Given the description of an element on the screen output the (x, y) to click on. 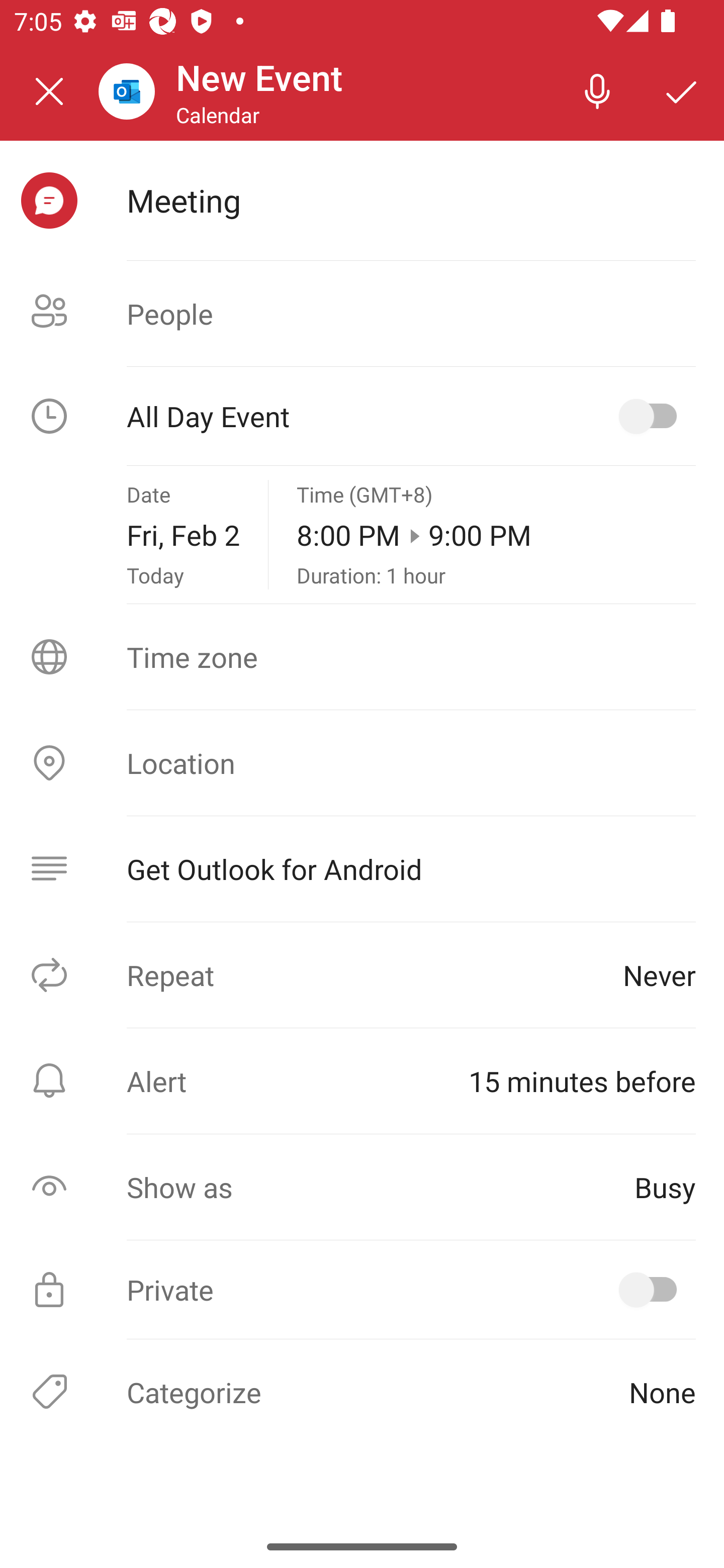
Close (49, 91)
Save button (681, 90)
Meeting (410, 200)
meeting selected, event icon picker (48, 200)
People (362, 313)
All Day Event (362, 415)
Date Fri, Feb 2 Today (182, 534)
Time (GMT+8) 8:00 PM ▸ 9:00 PM Duration: 1 hour (496, 534)
Time zone (362, 656)
Location (362, 762)
Repeat Never (362, 974)
Alert ⁨15 minutes before (362, 1080)
Show as Busy (362, 1186)
Private (362, 1289)
Categorize None (362, 1391)
